Given the description of an element on the screen output the (x, y) to click on. 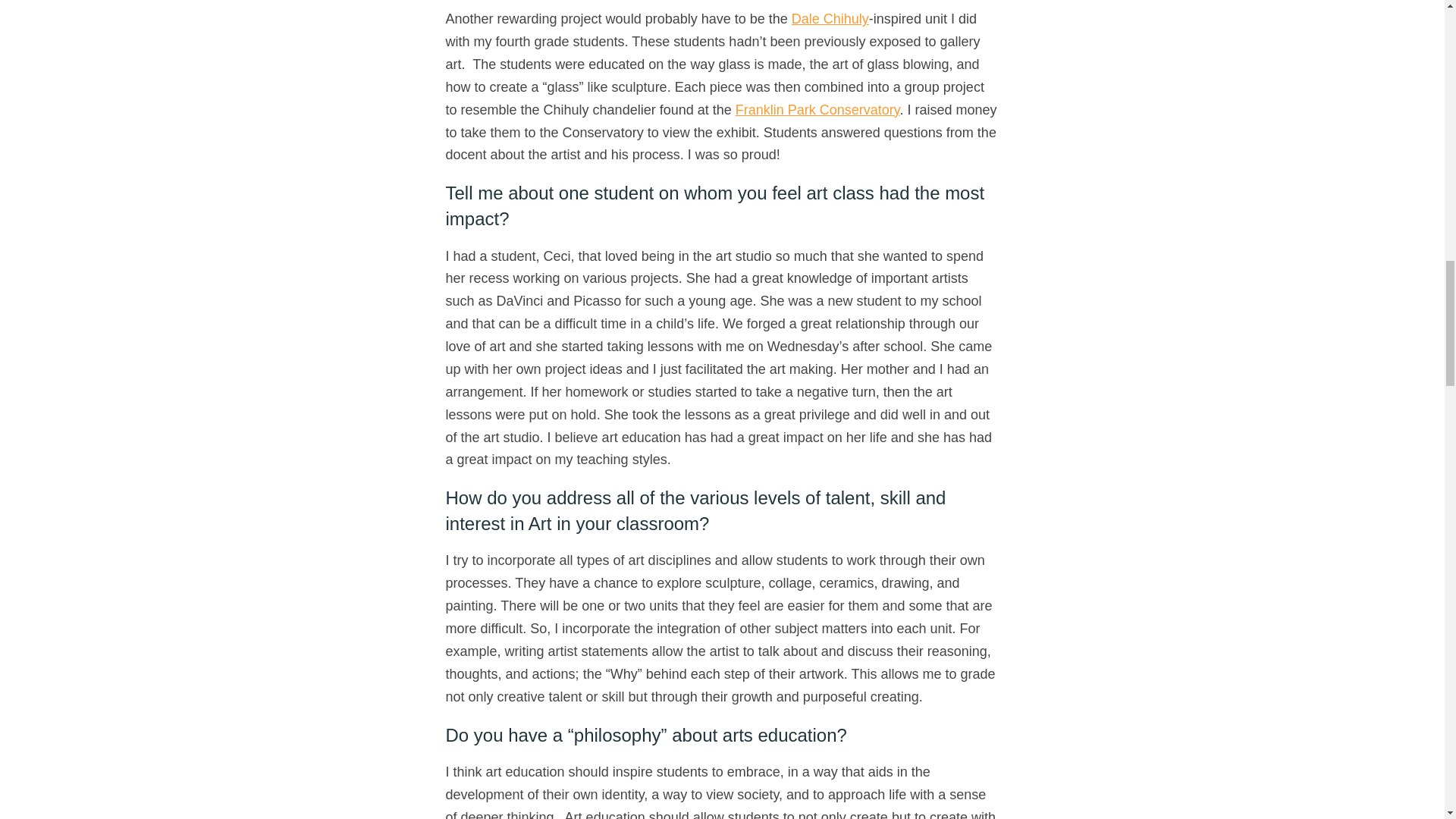
Dale Chihuly (830, 18)
Dale Chihuly (830, 18)
Franklin Park Conservatory (817, 109)
